Given the description of an element on the screen output the (x, y) to click on. 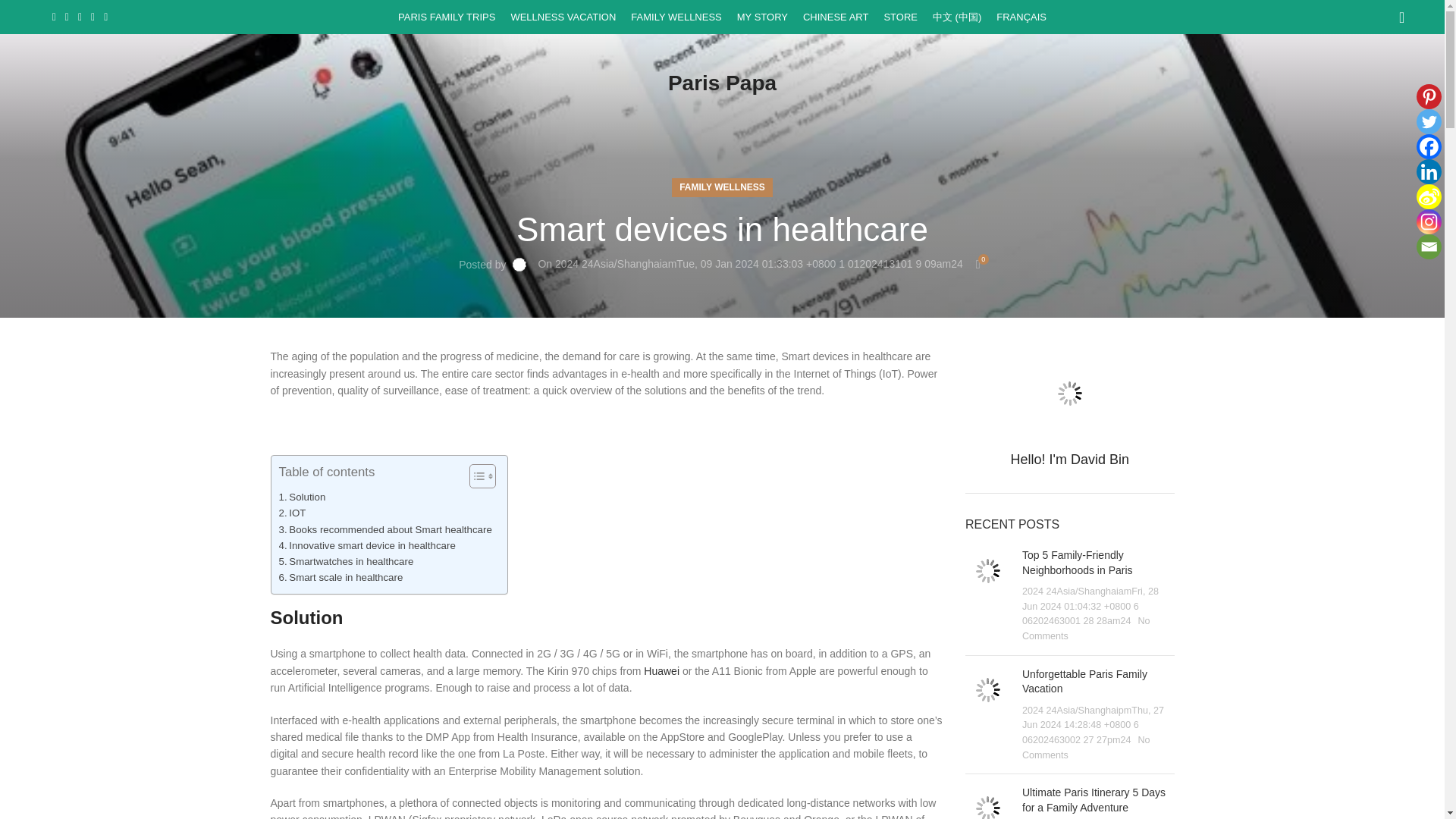
Innovative smart device in healthcare (367, 545)
Smartwatches in healthcare (346, 561)
Solution (302, 496)
Smart scale in healthcare (341, 577)
CHINESE ART (835, 16)
Books recommended about Smart healthcare (385, 529)
WELLNESS VACATION (563, 16)
Innovative smart device in healthcare (367, 545)
0 (978, 264)
Solution (302, 496)
